Given the description of an element on the screen output the (x, y) to click on. 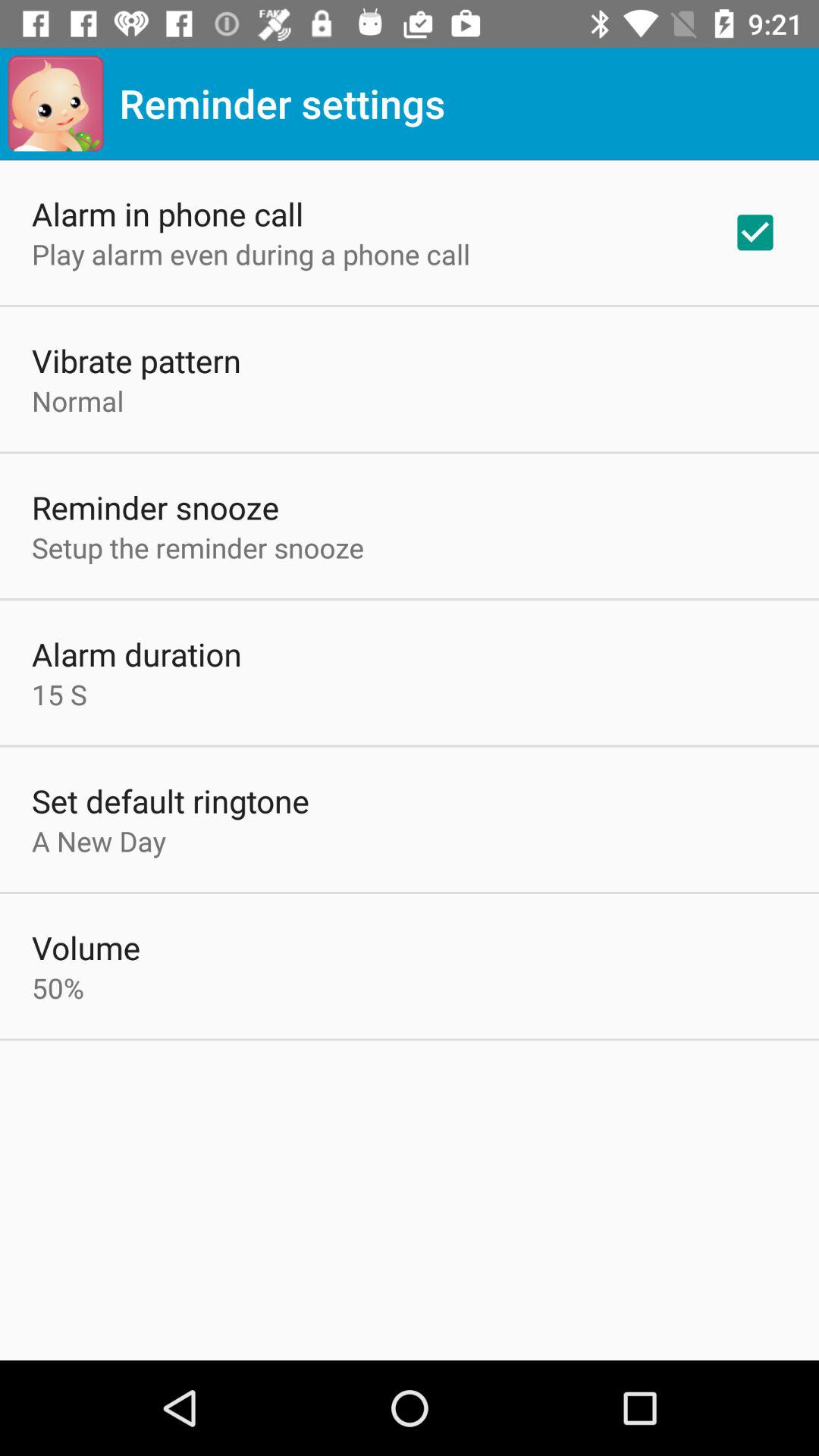
press the app above alarm in phone (55, 103)
